Given the description of an element on the screen output the (x, y) to click on. 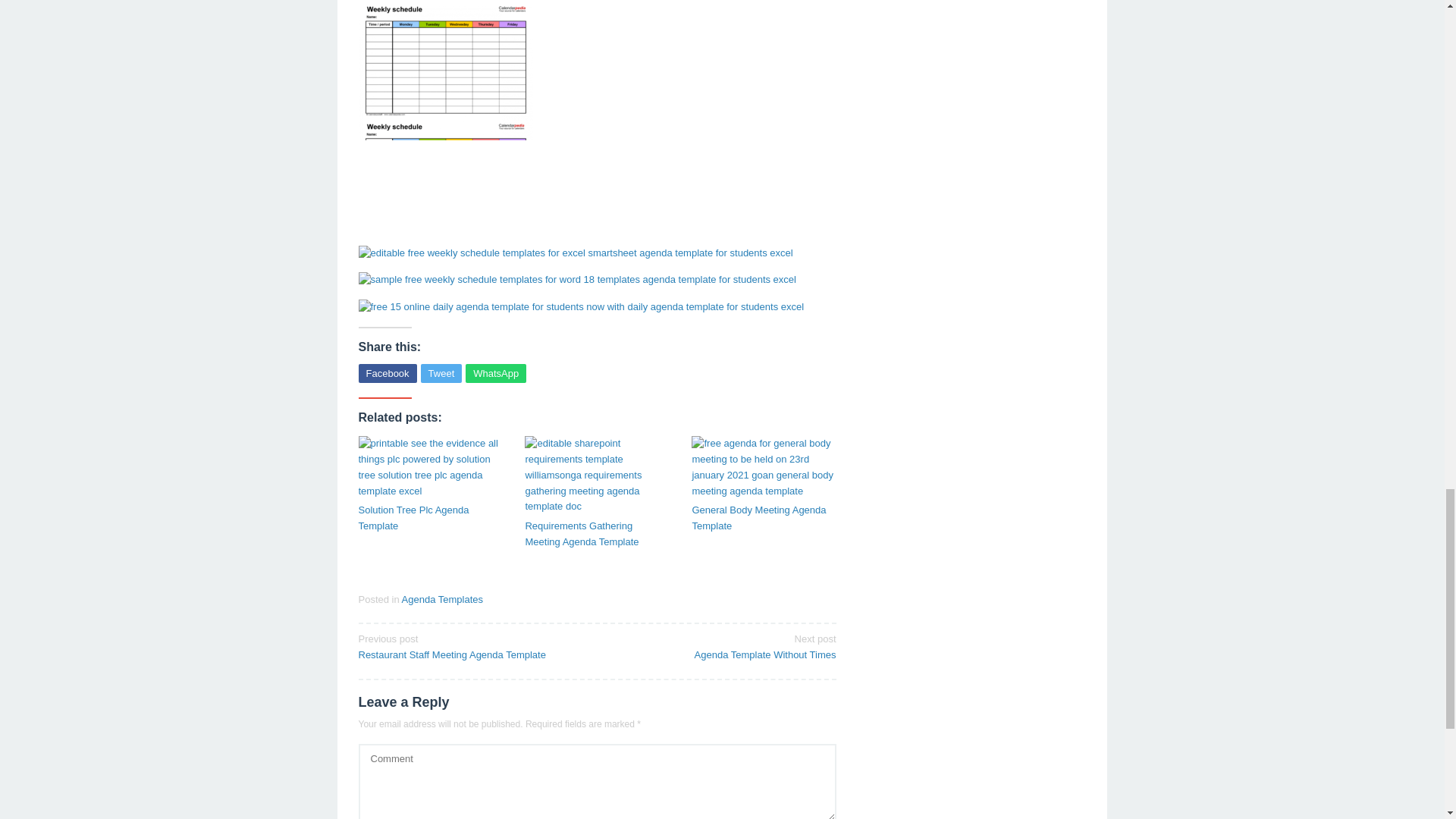
Permalink to: Requirements Gathering Meeting Agenda Template (596, 534)
Tweet (441, 373)
Solution Tree Plc Agenda Template (430, 518)
Permalink to: General Body Meeting Agenda Template (763, 466)
Permalink to: Solution Tree Plc Agenda Template (430, 518)
Requirements Gathering Meeting Agenda Template (472, 645)
Permalink to: General Body Meeting Agenda Template (596, 534)
WhatsApp this (763, 518)
General Body Meeting Agenda Template (495, 373)
